Given the description of an element on the screen output the (x, y) to click on. 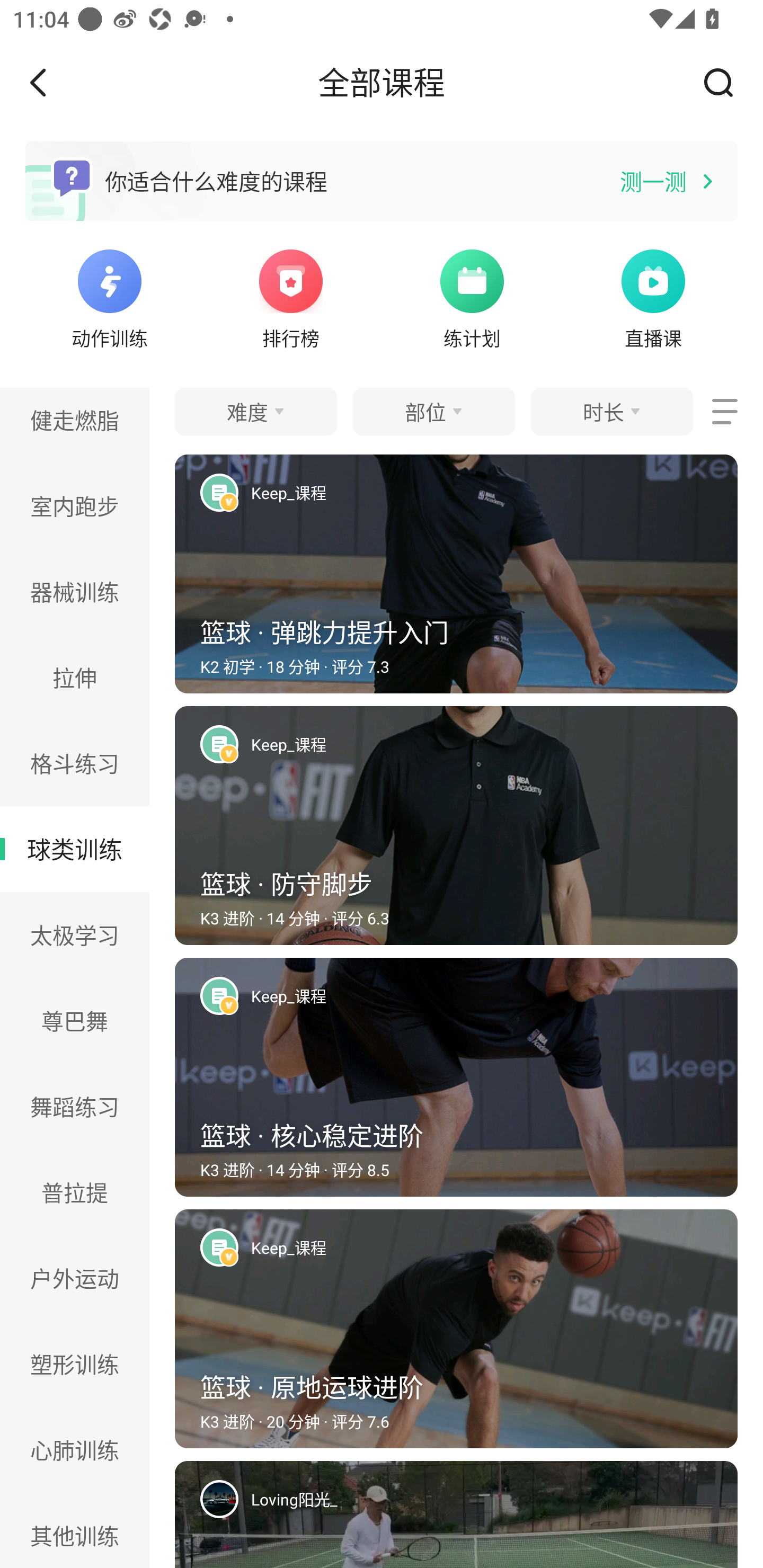
Left Button In Title Bar (50, 82)
Right Button In Title Bar (724, 82)
你适合什么难度的课程 测一测 (381, 181)
动作训练 (109, 297)
排行榜 (290, 297)
练计划 (471, 297)
直播课 (653, 297)
健走燃脂 (74, 424)
难度 (255, 411)
部位 (433, 411)
时长 (611, 411)
Keep_课程 篮球 · 弹跳力提升入门 K2 初学 · 18 分钟 · 评分 7.3 (456, 579)
室内跑步 (74, 505)
器械训练 (74, 591)
拉伸 (74, 677)
Keep_课程 篮球 · 防守脚步 K3 进阶 · 14 分钟 · 评分 6.3 (456, 831)
格斗练习 (74, 762)
球类训练 (74, 848)
太极学习 (74, 935)
Keep_课程 篮球 · 核心稳定进阶 K3 进阶 · 14 分钟 · 评分 8.5 (456, 1083)
尊巴舞 (74, 1020)
舞蹈练习 (74, 1106)
普拉提 (74, 1192)
Keep_课程 篮球 · 原地运球进阶 K3 进阶 · 20 分钟 · 评分 7.6 (456, 1334)
户外运动 (74, 1278)
塑形训练 (74, 1363)
心肺训练 (74, 1449)
其他训练 (74, 1530)
